Given the description of an element on the screen output the (x, y) to click on. 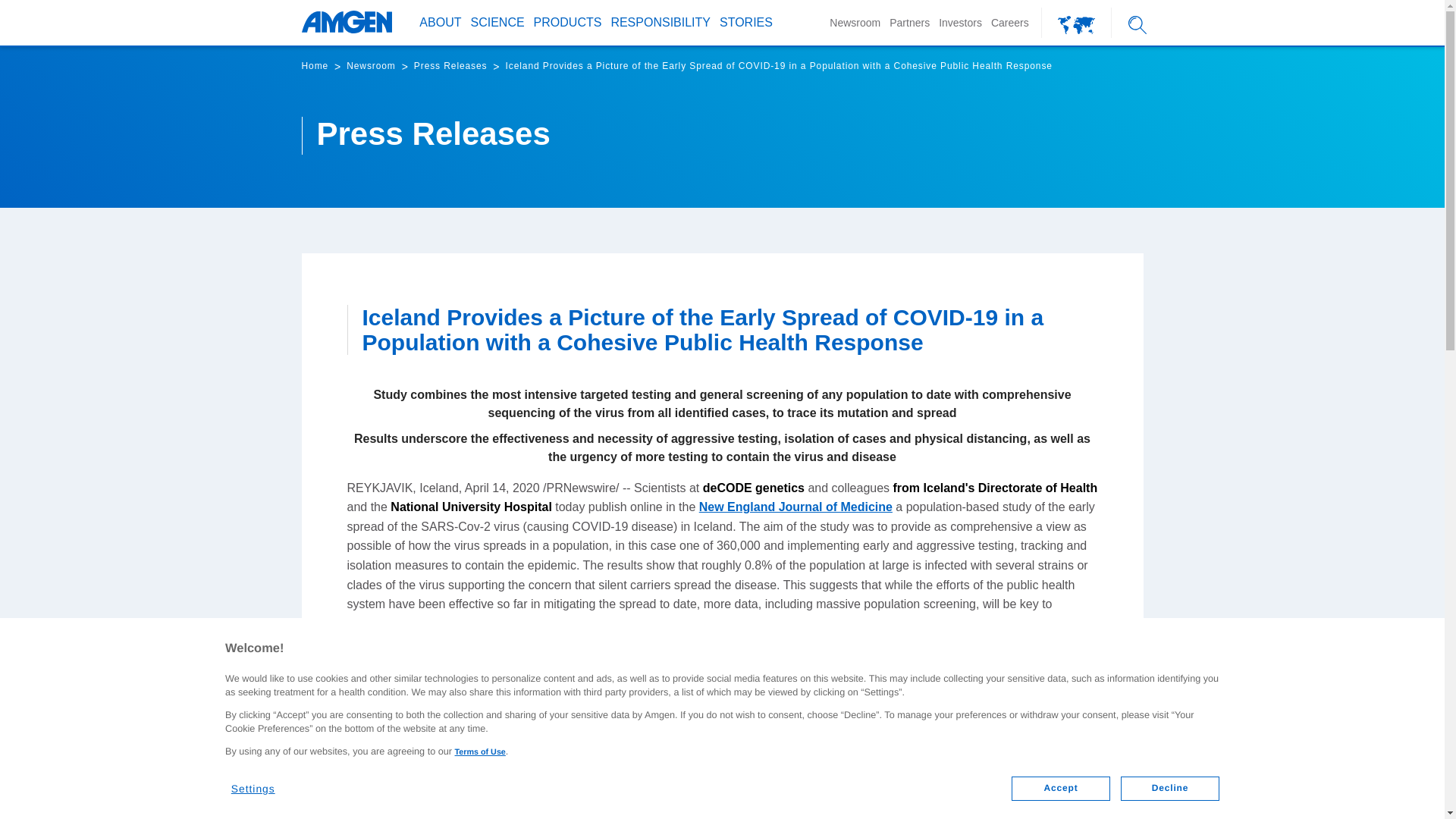
Settings (262, 782)
Accept (1060, 788)
Terms of Use (479, 751)
Decline (1170, 788)
